Given the description of an element on the screen output the (x, y) to click on. 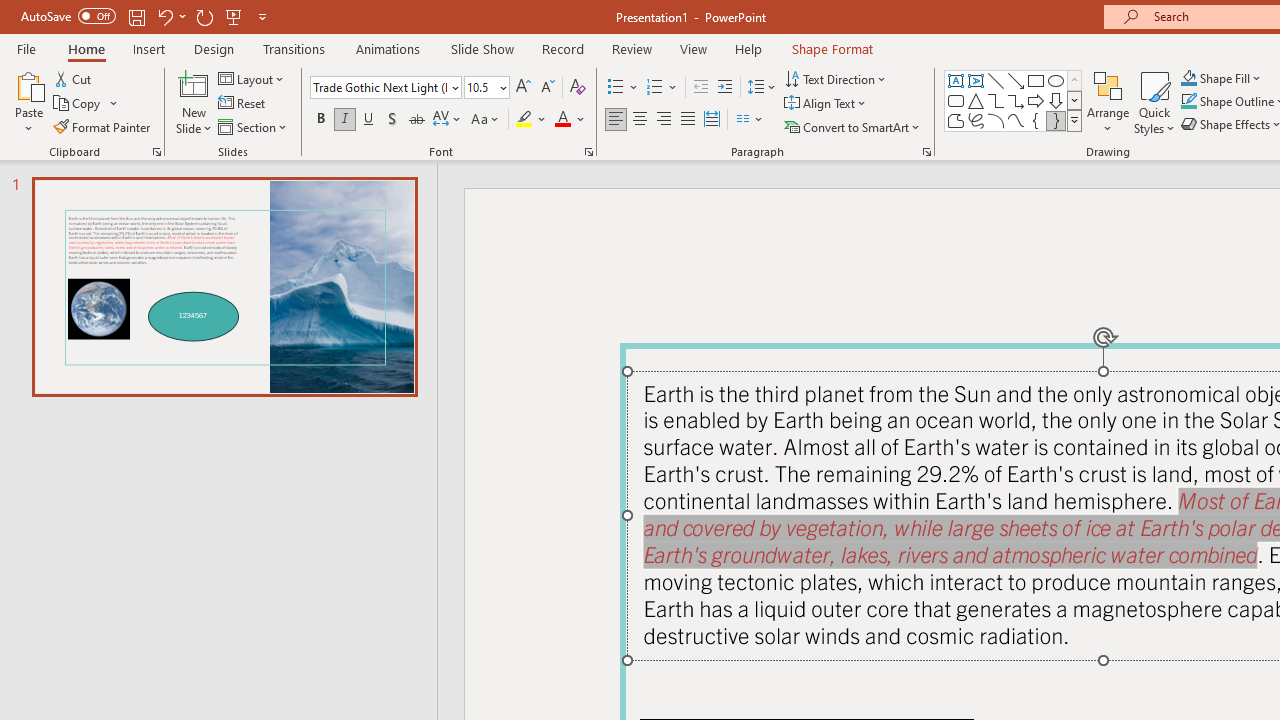
Shape Fill Aqua, Accent 2 (1188, 78)
